Given the description of an element on the screen output the (x, y) to click on. 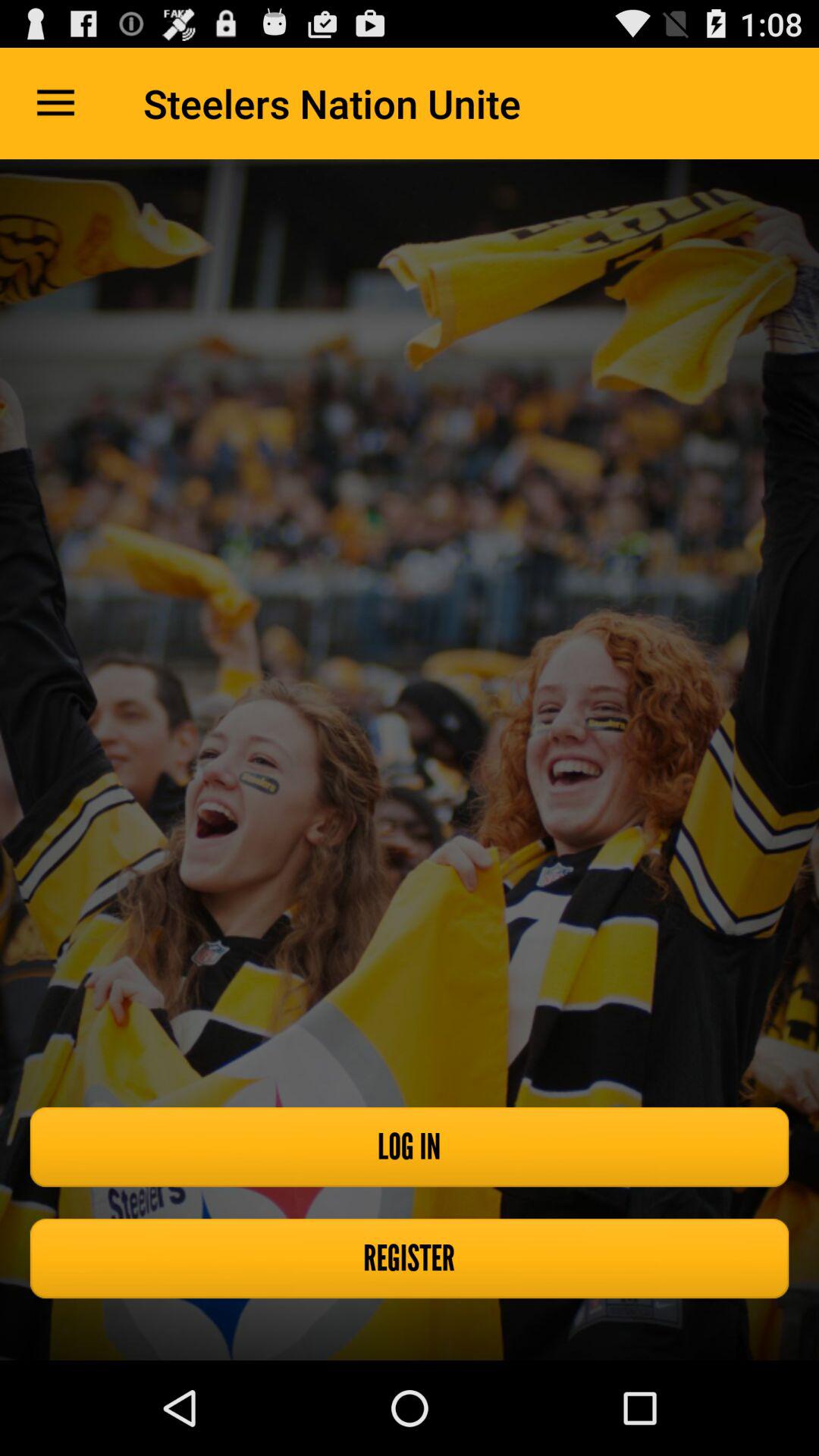
launch the item to the left of steelers nation unite item (55, 103)
